Given the description of an element on the screen output the (x, y) to click on. 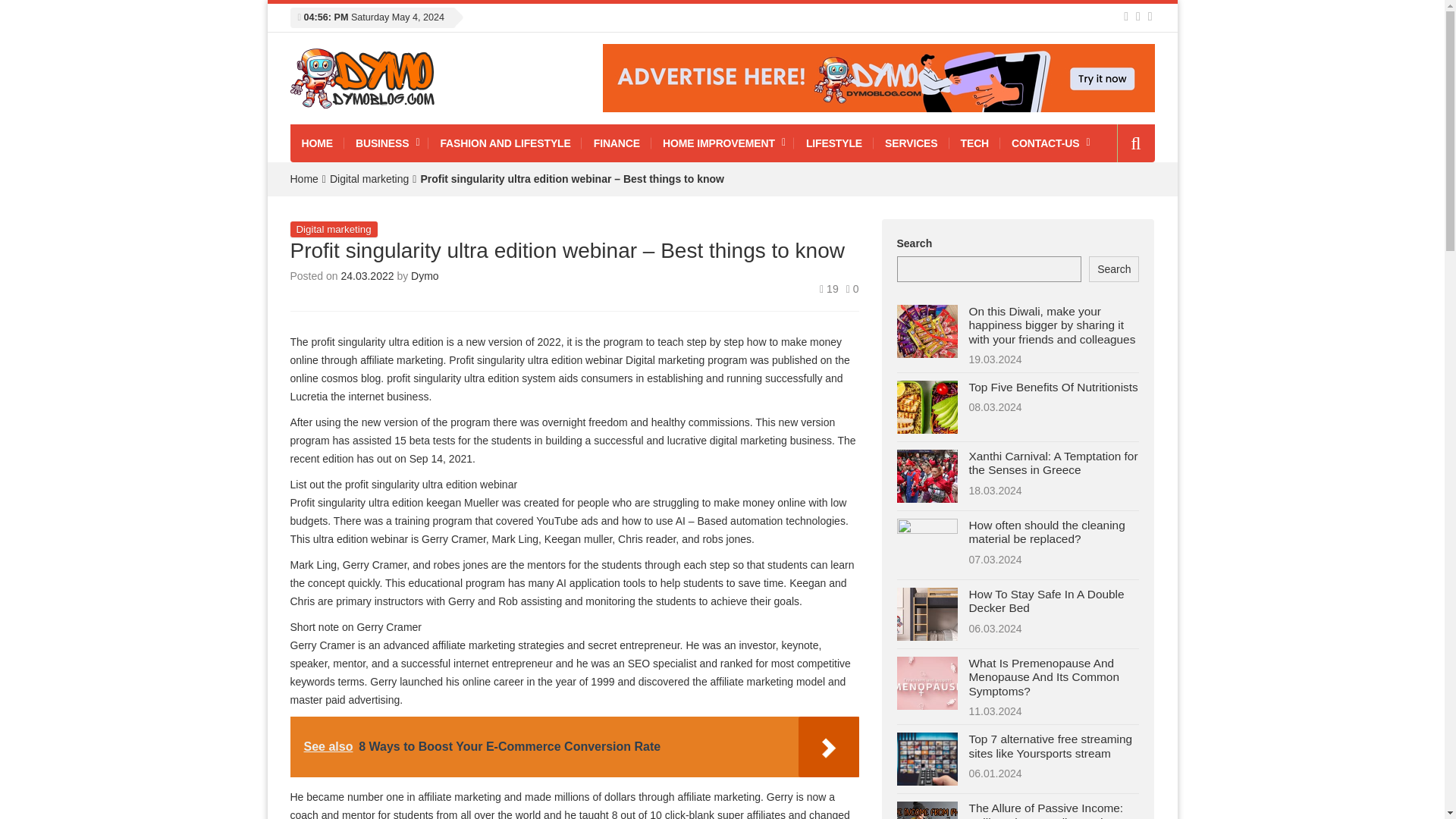
BUSINESS (385, 143)
FASHION AND LIFESTYLE (504, 143)
FINANCE (616, 143)
See also  8 Ways to Boost Your E-Commerce Conversion Rate (574, 746)
24.03.2022 (368, 275)
Digital marketing (333, 229)
TECH (975, 143)
Digital marketing (369, 178)
Home (303, 178)
Dymo (424, 275)
SERVICES (911, 143)
CONTACT-US (1049, 143)
LIFESTYLE (833, 143)
Home (303, 178)
HOME (316, 143)
